Given the description of an element on the screen output the (x, y) to click on. 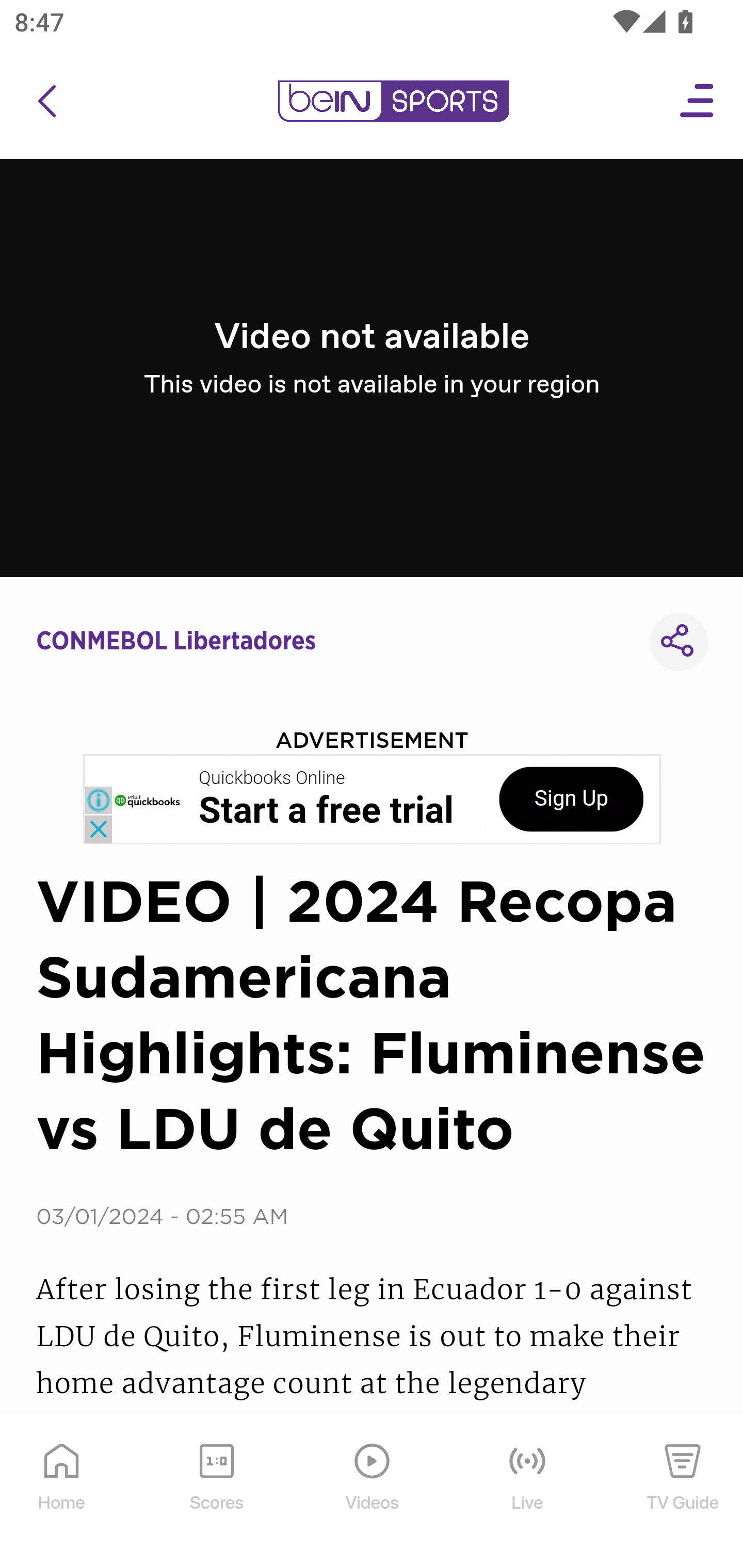
en-us?platform=mobile_android bein logo (392, 101)
icon back (46, 101)
Open Menu Icon (697, 101)
Quickbooks Online (272, 778)
Sign Up (571, 799)
Start a free trial (326, 810)
Home Home Icon Home (61, 1491)
Scores Scores Icon Scores (216, 1491)
Videos Videos Icon Videos (372, 1491)
TV Guide TV Guide Icon TV Guide (682, 1491)
